Given the description of an element on the screen output the (x, y) to click on. 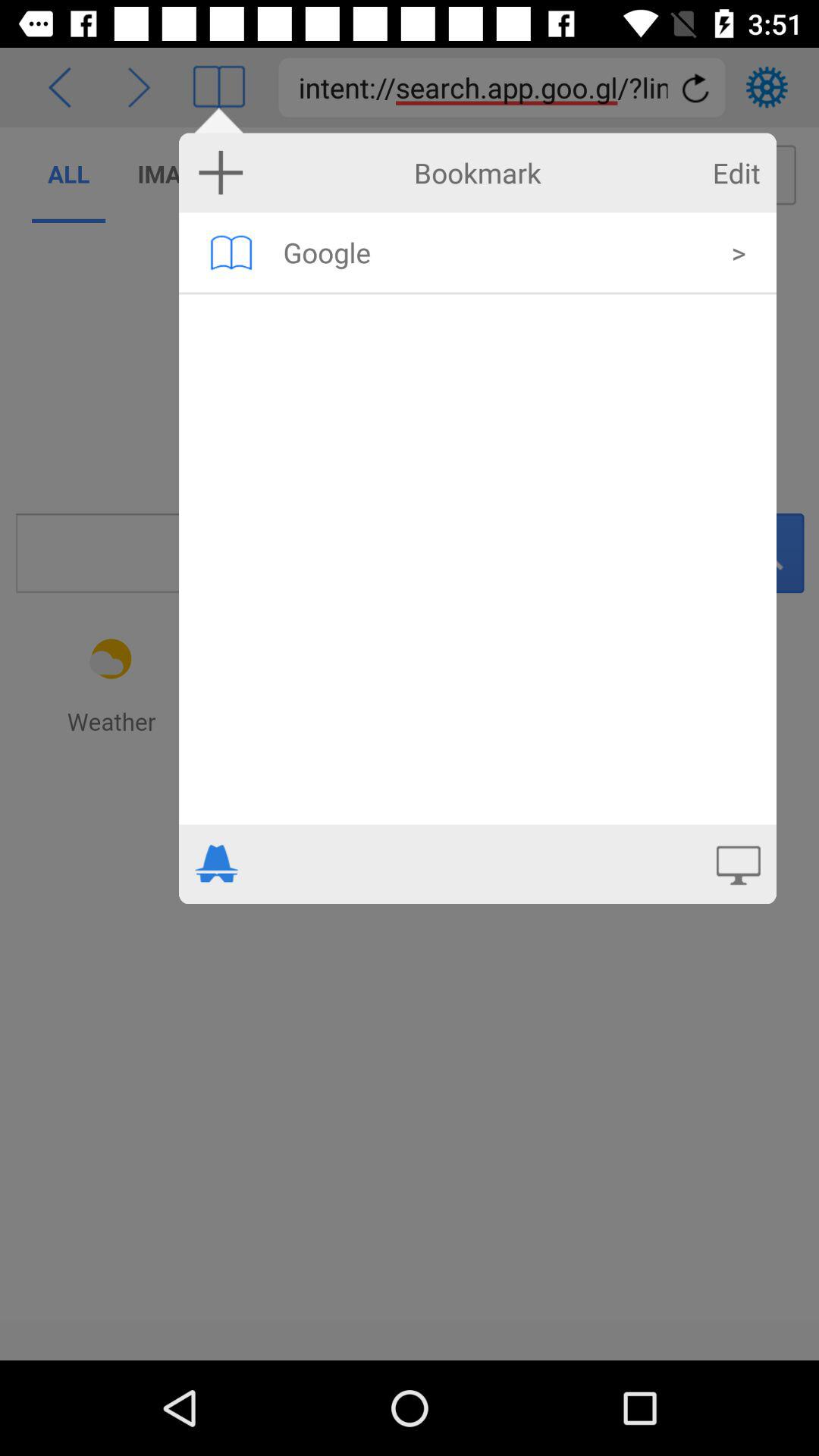
jump until the google (497, 252)
